Given the description of an element on the screen output the (x, y) to click on. 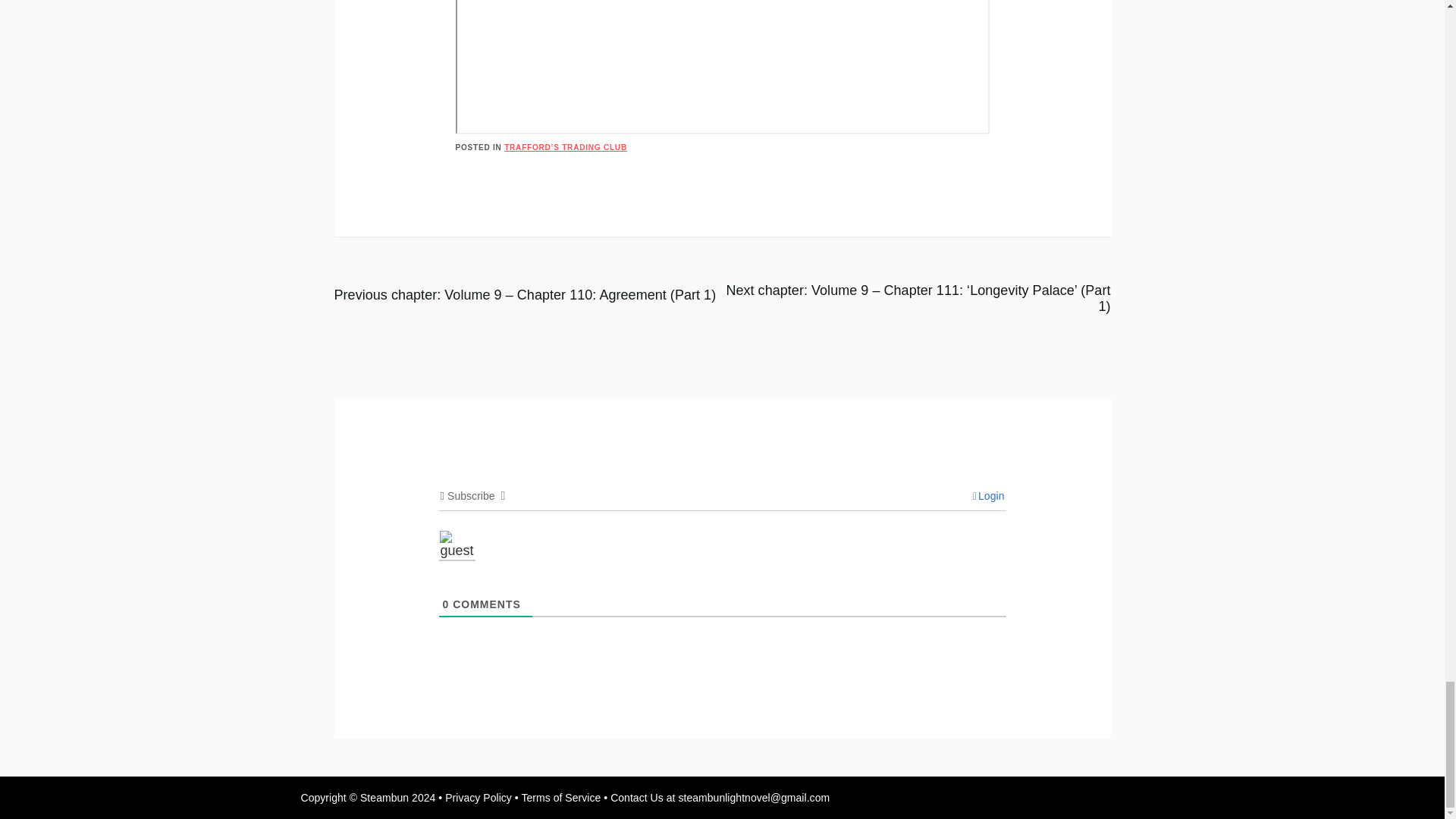
Login (988, 495)
